Given the description of an element on the screen output the (x, y) to click on. 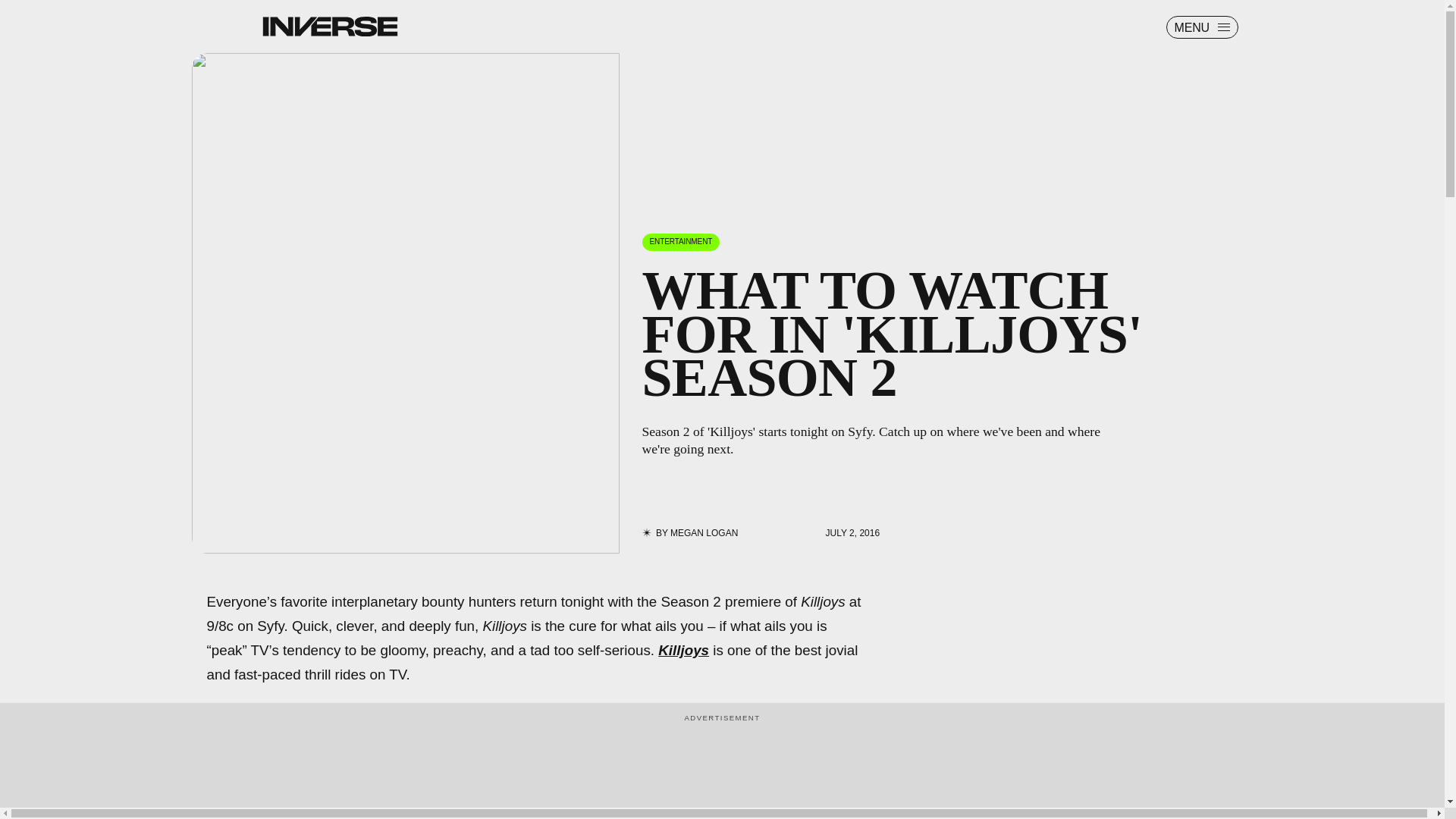
Killjoys (683, 650)
MEGAN LOGAN (703, 532)
Inverse (328, 26)
